Given the description of an element on the screen output the (x, y) to click on. 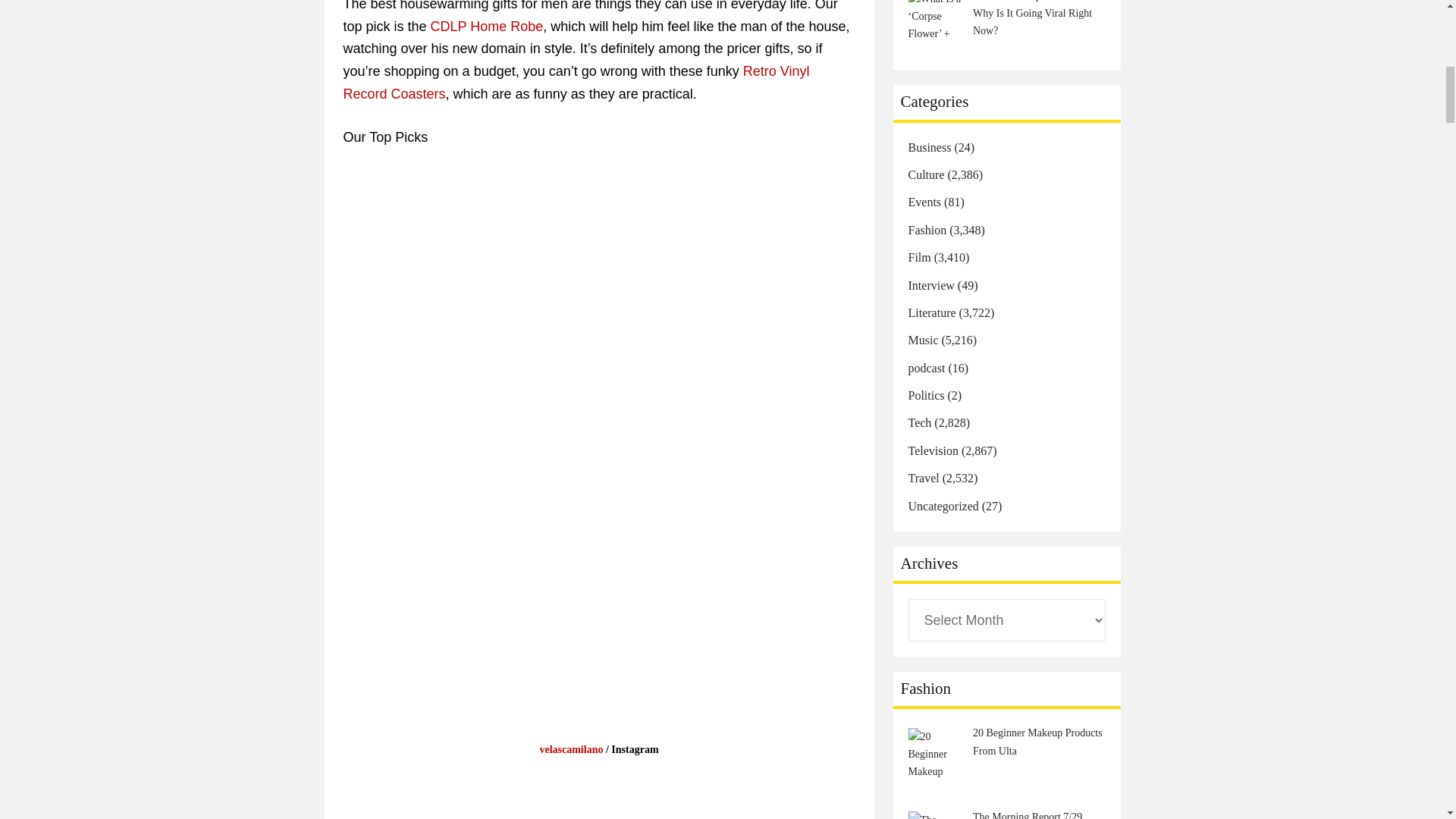
20 Beginner Makeup Products From Ulta (936, 756)
